Given the description of an element on the screen output the (x, y) to click on. 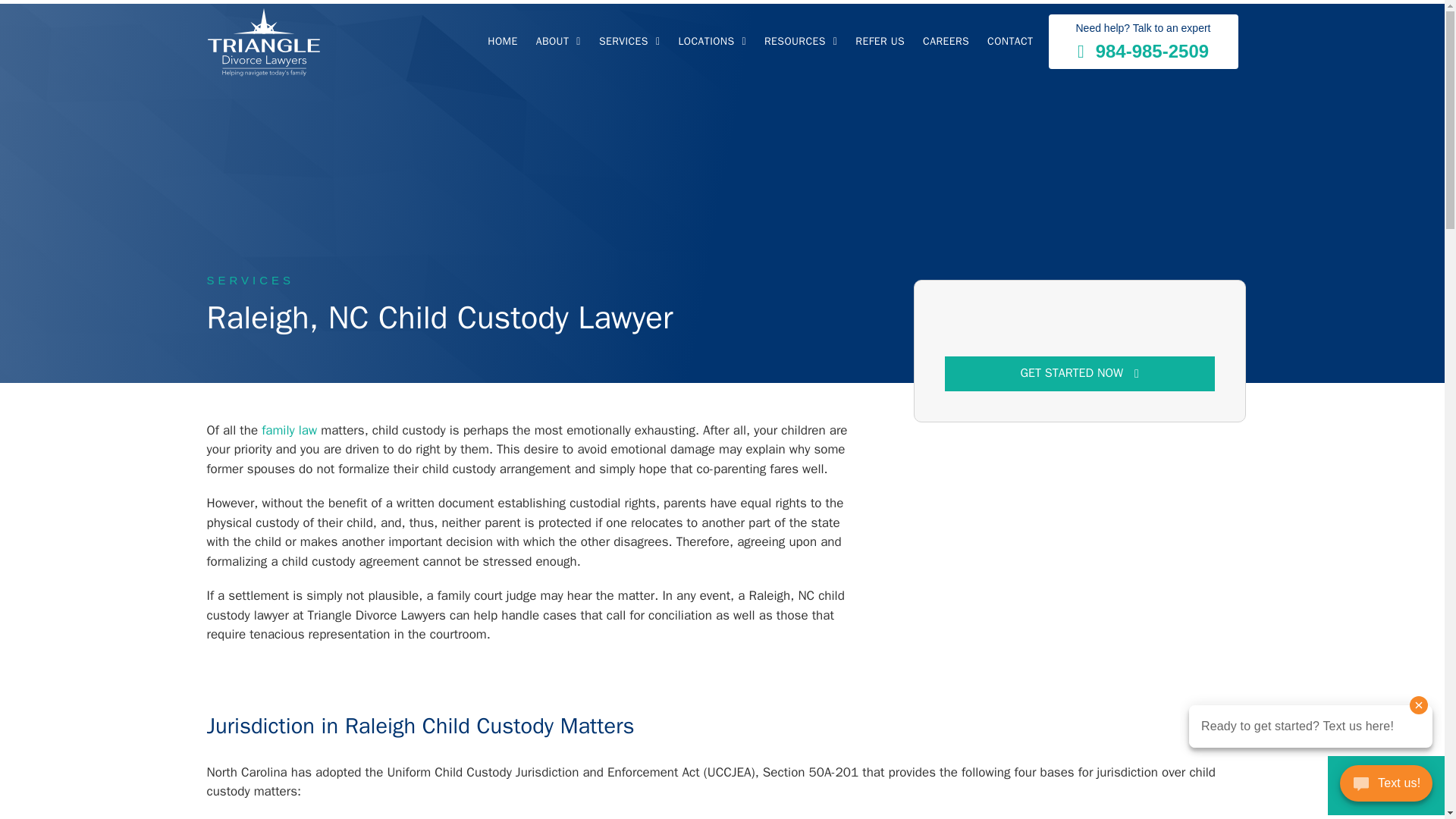
REFER US (880, 41)
CAREERS (946, 41)
RESOURCES (800, 41)
ABOUT (557, 41)
HOME (501, 41)
CONTACT (1009, 41)
LOCATIONS (711, 41)
SERVICES (629, 41)
